Given the description of an element on the screen output the (x, y) to click on. 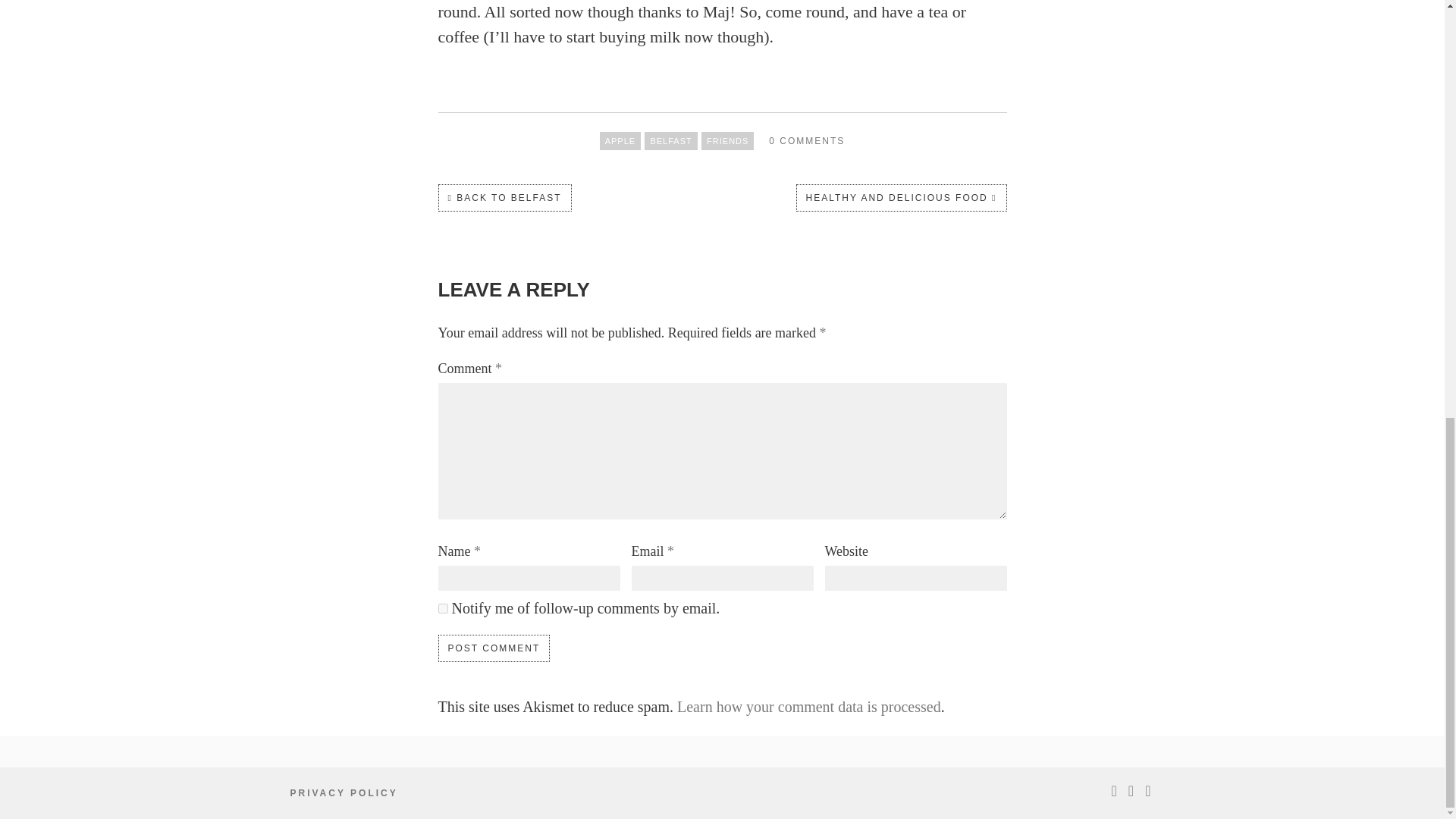
Privacy Policy (343, 792)
Post Comment (494, 647)
subscribe (443, 608)
